Given the description of an element on the screen output the (x, y) to click on. 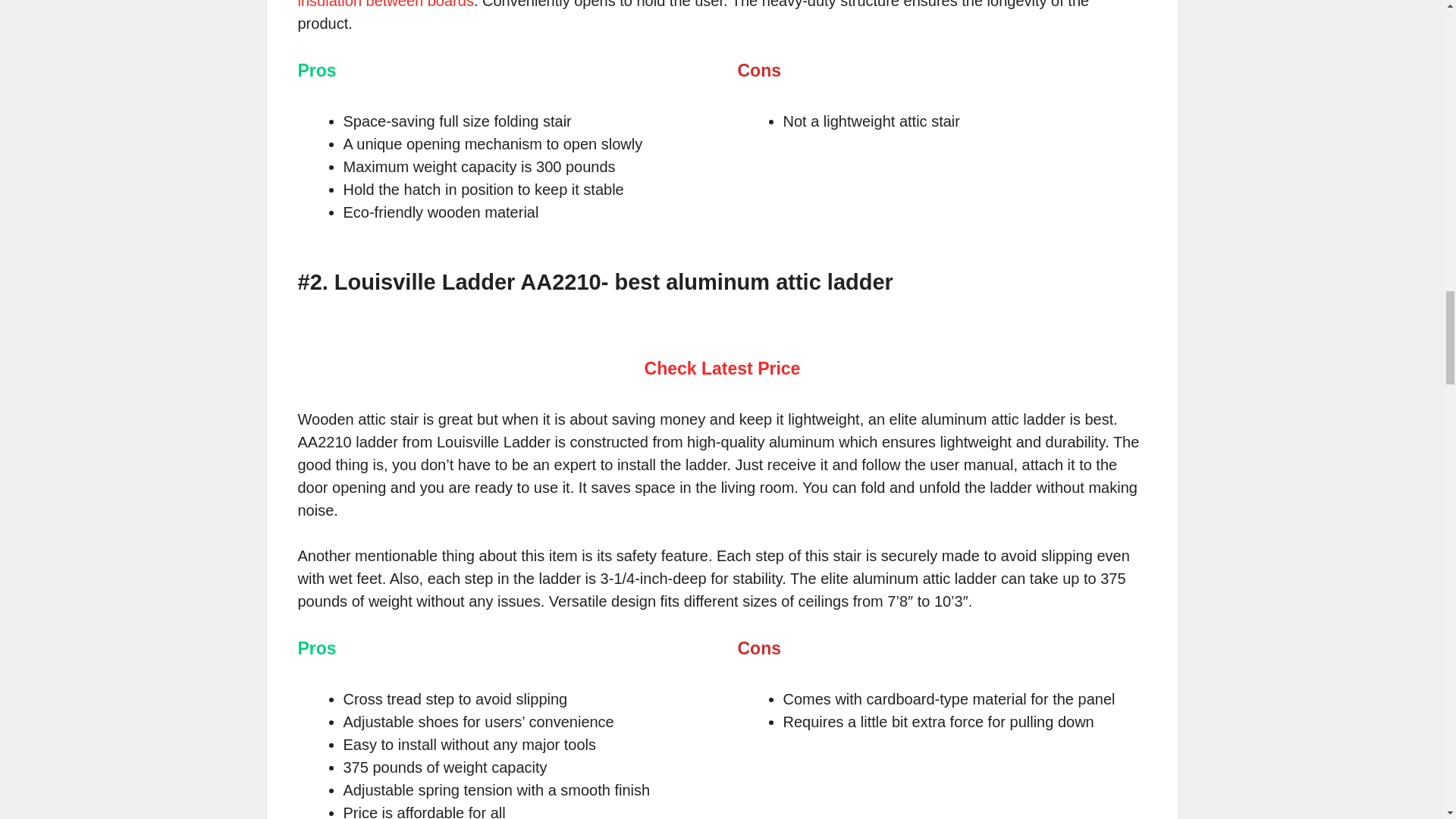
Check Latest Price (722, 368)
